Given the description of an element on the screen output the (x, y) to click on. 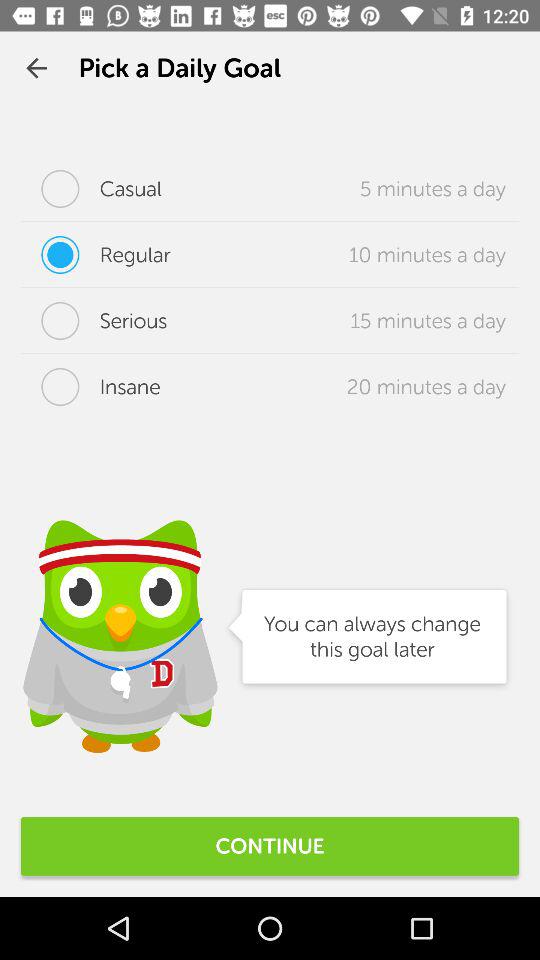
select the icon below the casual (95, 255)
